Given the description of an element on the screen output the (x, y) to click on. 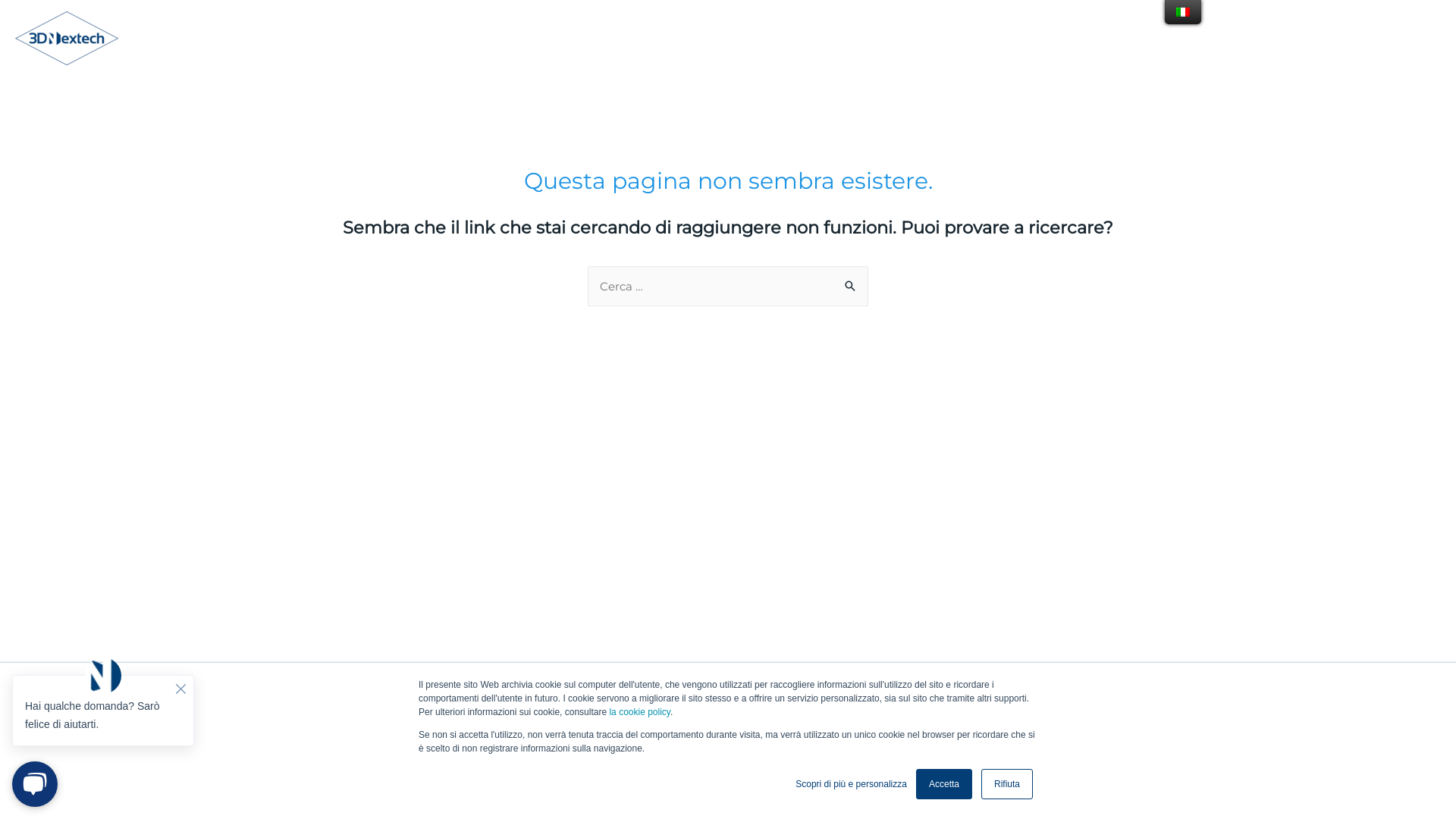
Italian Element type: hover (1182, 11)
Accetta Element type: text (944, 783)
Rifiuta Element type: text (1006, 783)
Cerca Element type: text (851, 286)
la cookie policy Element type: text (638, 711)
